Given the description of an element on the screen output the (x, y) to click on. 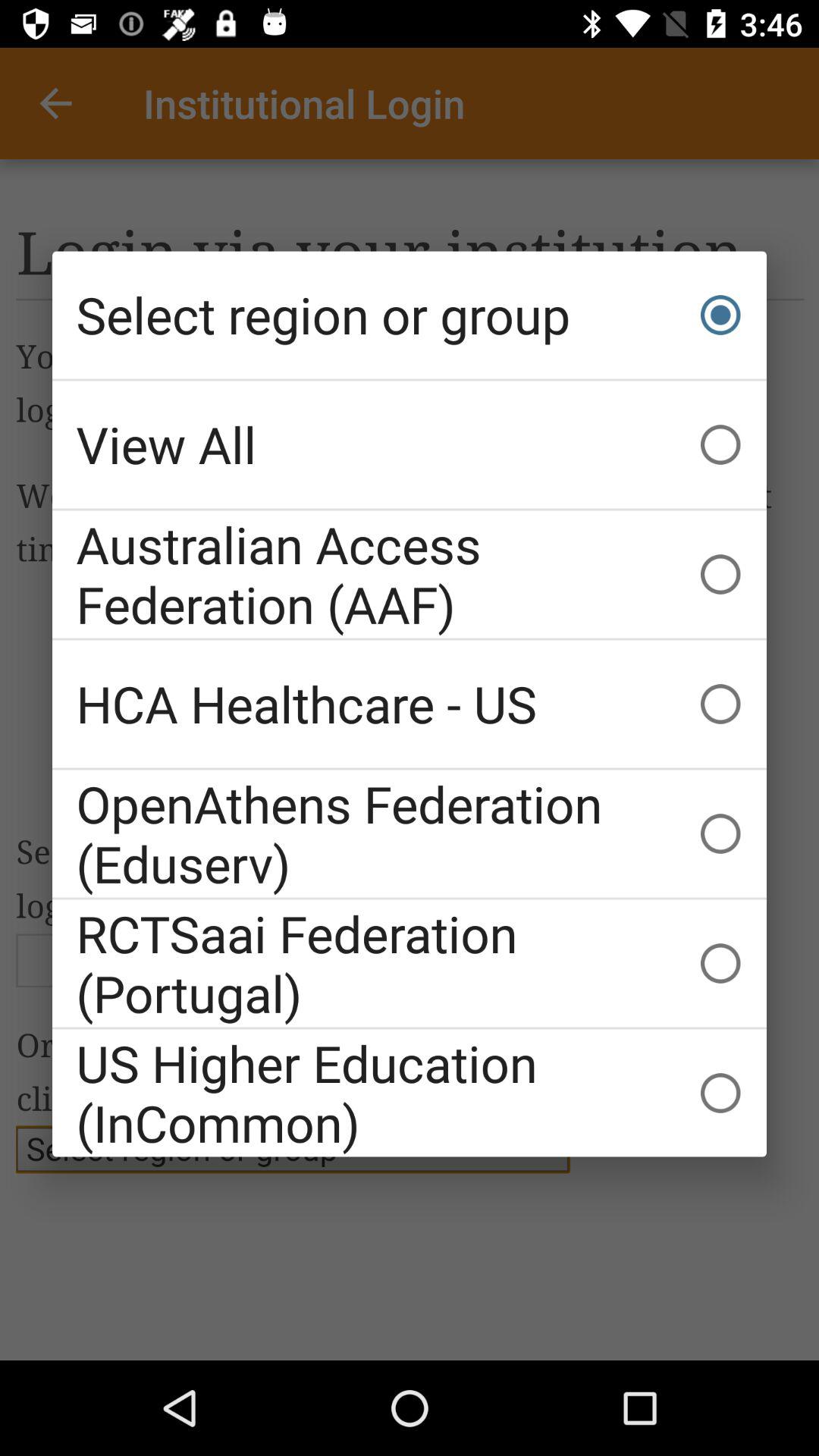
jump until rctsaai federation (portugal) icon (409, 963)
